Given the description of an element on the screen output the (x, y) to click on. 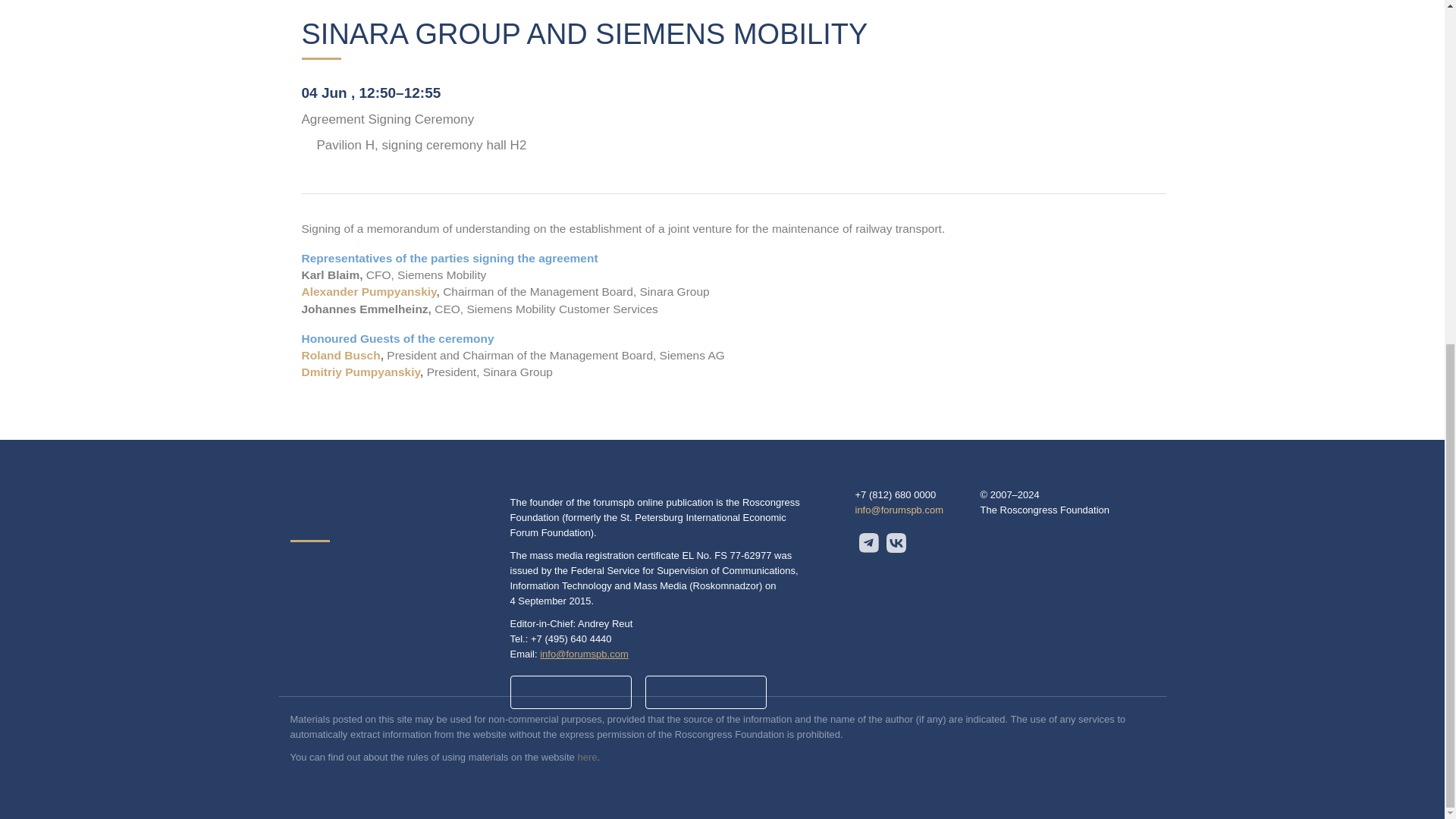
Roland Busch (340, 354)
Dmitriy Pumpyanskiy (360, 371)
Alexander Pumpyanskiy (368, 291)
